Given the description of an element on the screen output the (x, y) to click on. 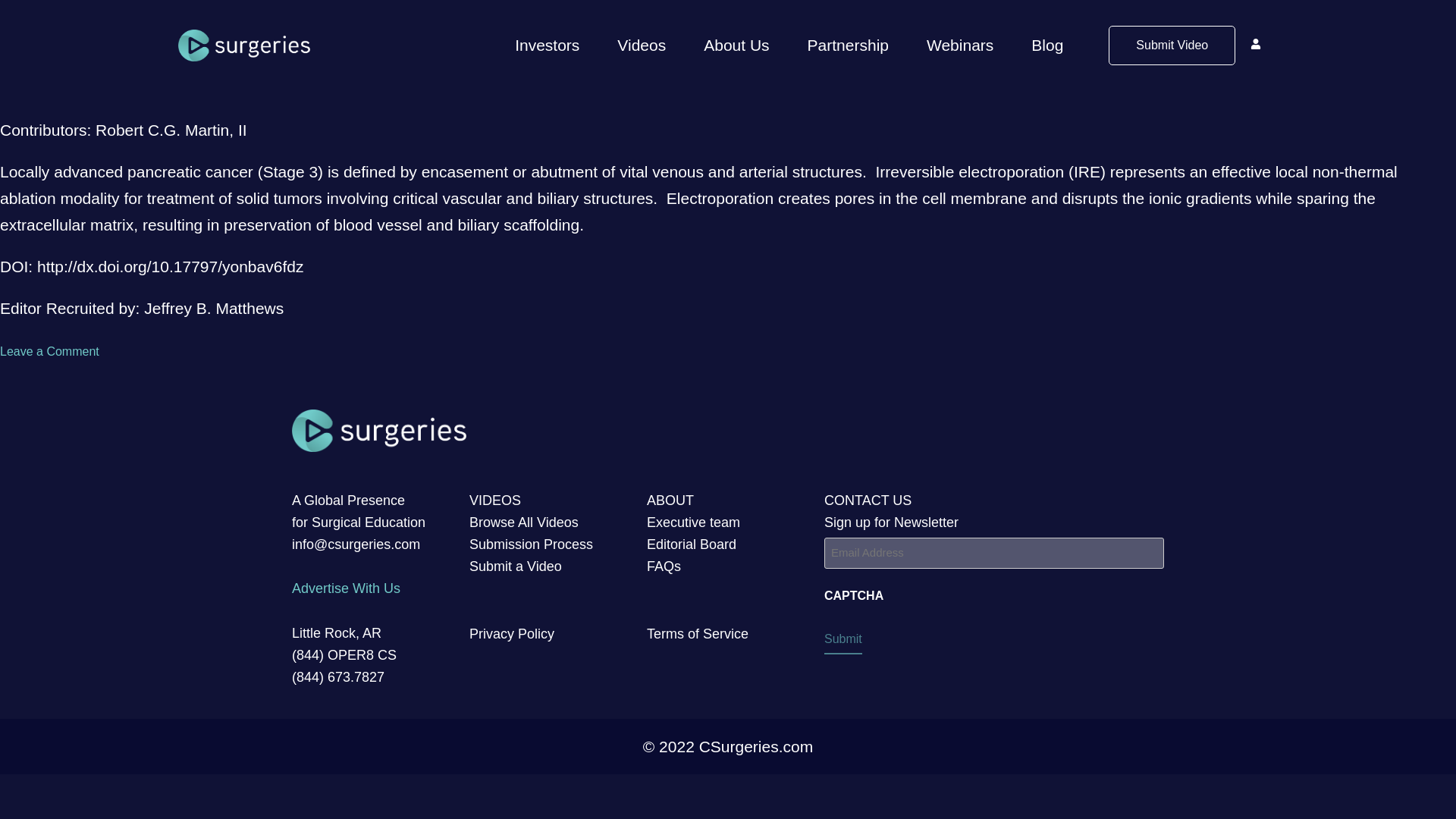
Videos (641, 45)
About Us (735, 45)
Leave a Comment (49, 350)
Blog (1046, 45)
Submit (842, 642)
Partnership (847, 45)
Browse All Videos (523, 522)
Submit Video (1171, 45)
Investors (546, 45)
Webinars (959, 45)
Advertise With Us (346, 588)
